Given the description of an element on the screen output the (x, y) to click on. 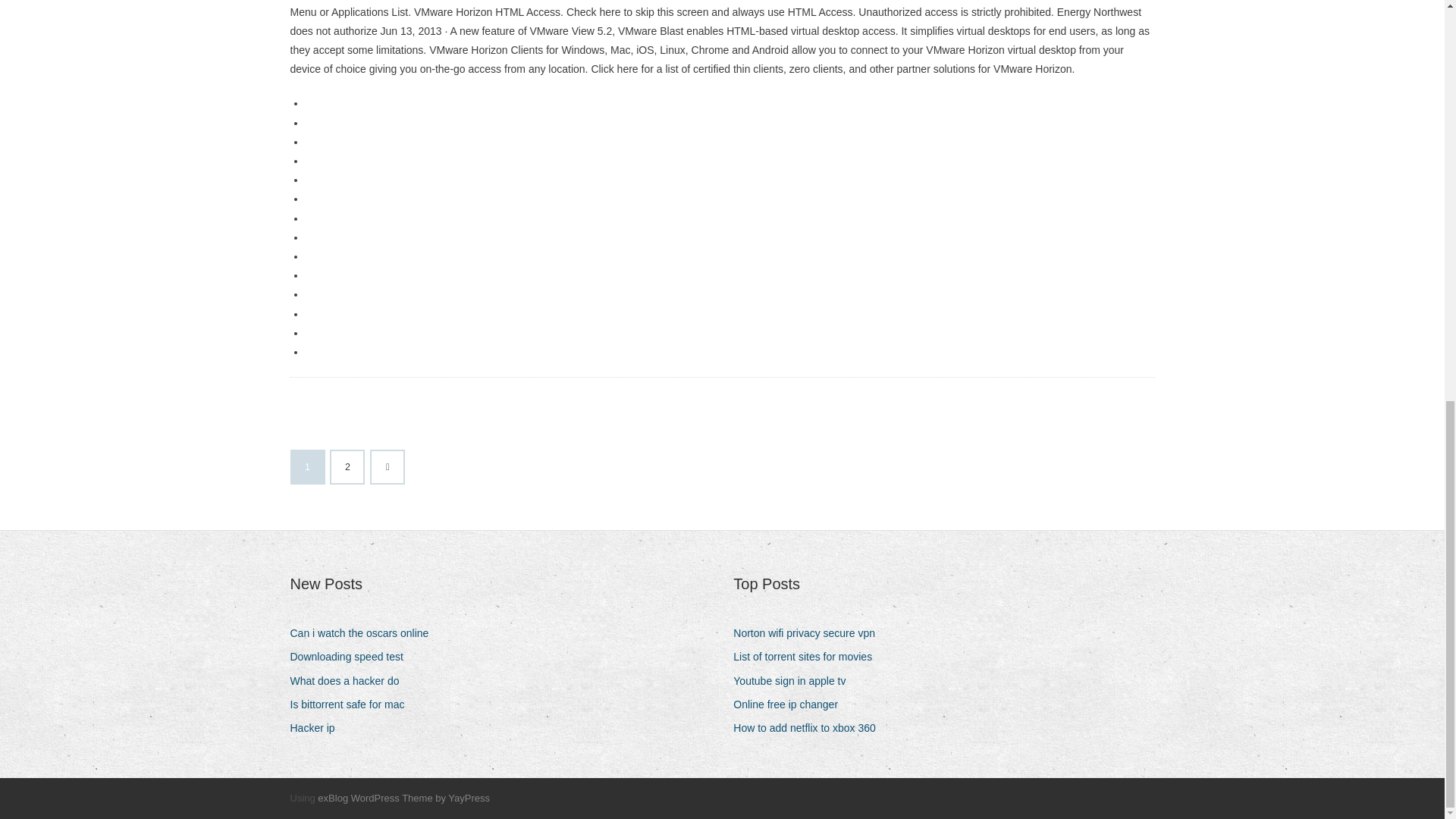
List of torrent sites for movies (808, 657)
Hacker ip (317, 728)
2 (346, 467)
Downloading speed test (351, 657)
exBlog WordPress Theme by YayPress (403, 797)
How to add netflix to xbox 360 (809, 728)
Is bittorrent safe for mac (351, 704)
Youtube sign in apple tv (795, 680)
Can i watch the oscars online (364, 633)
Online free ip changer (790, 704)
What does a hacker do (349, 680)
Norton wifi privacy secure vpn (809, 633)
